Given the description of an element on the screen output the (x, y) to click on. 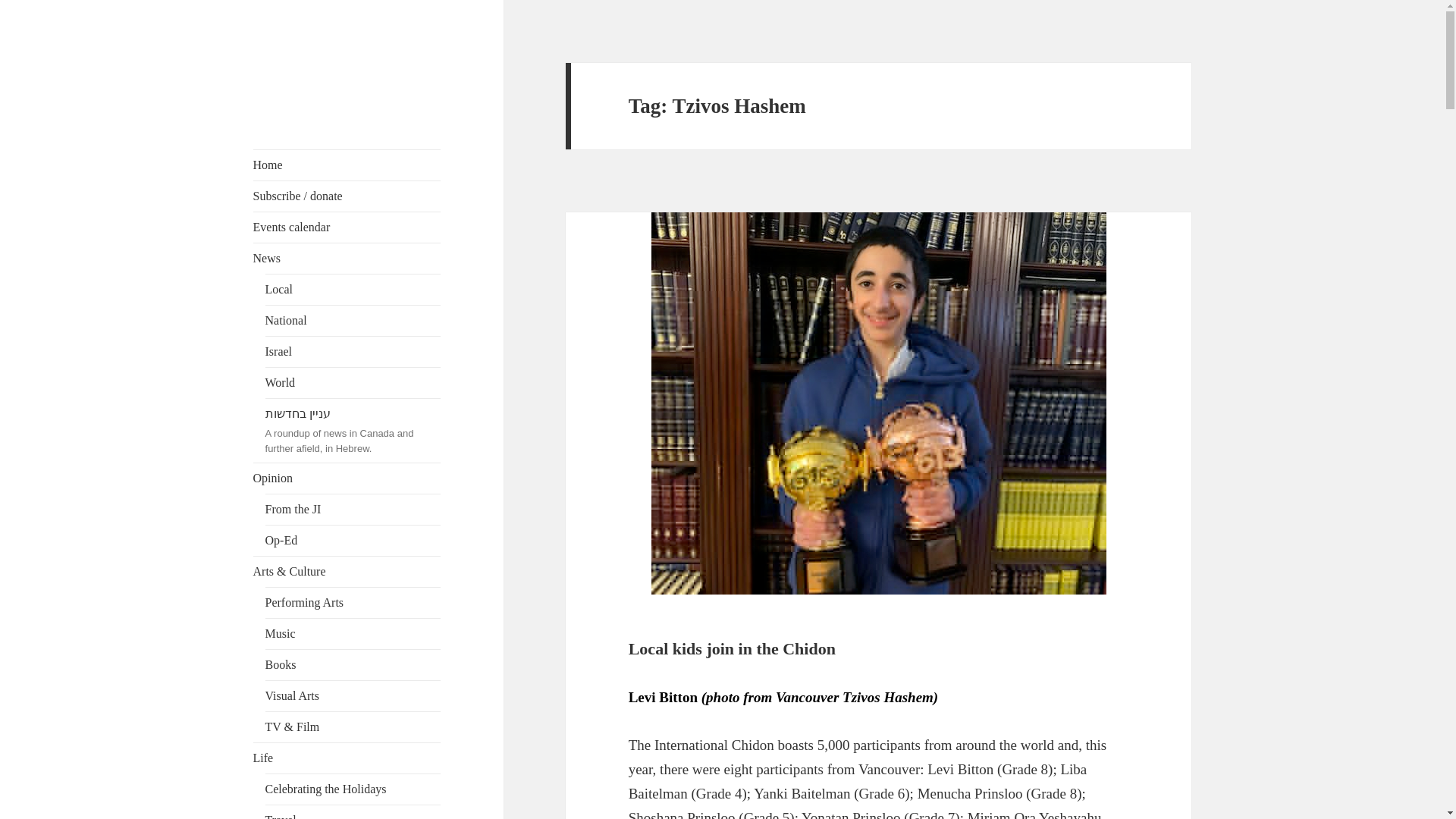
Performing Arts (352, 603)
Music (352, 634)
News (347, 258)
National (352, 320)
Opinion (347, 478)
Travel (352, 812)
World (352, 382)
Events calendar (347, 227)
Visual Arts (352, 695)
Celebrating the Holidays (352, 788)
